Given the description of an element on the screen output the (x, y) to click on. 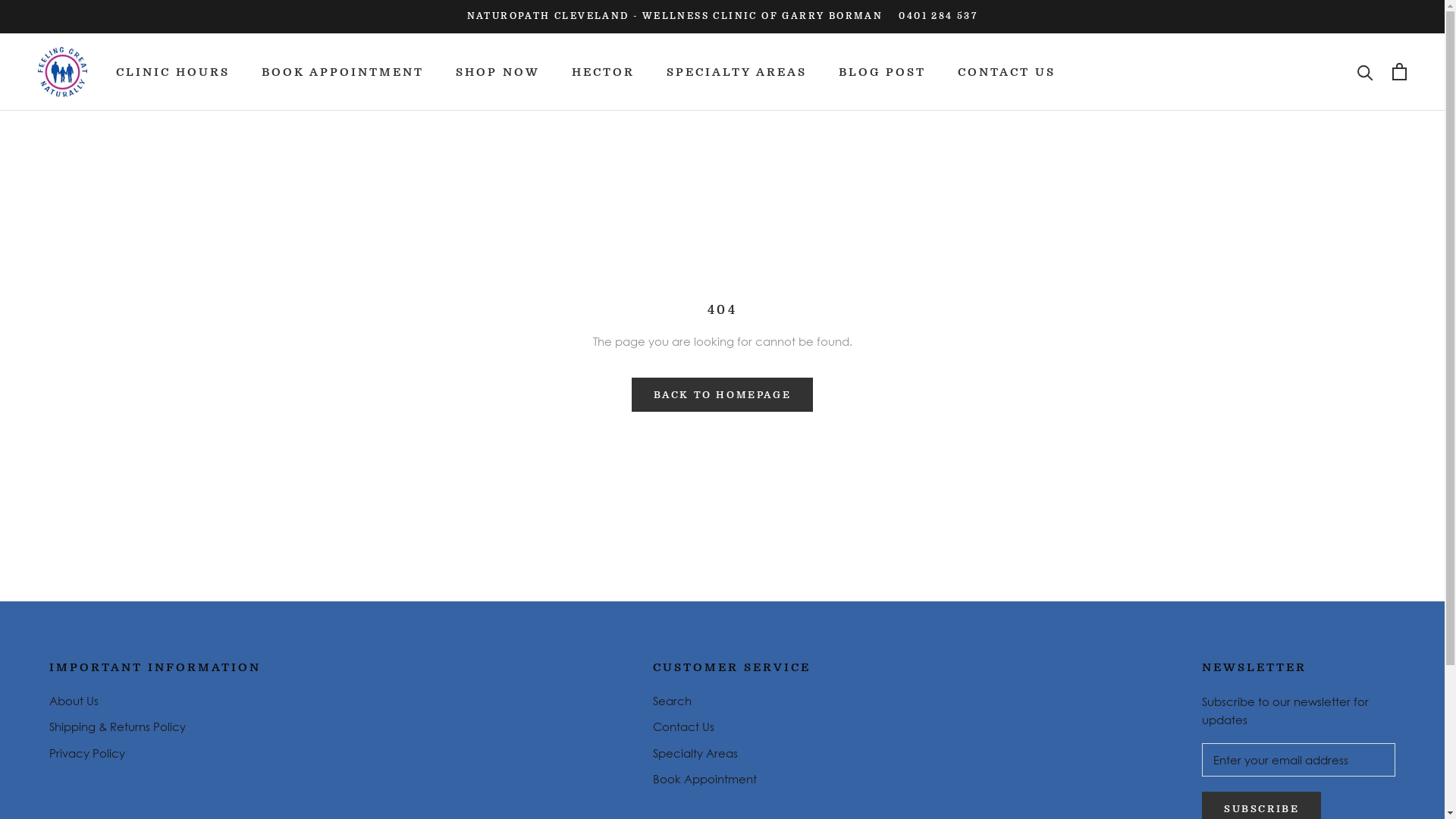
SHOP NOW
SHOP NOW Element type: text (497, 71)
Shipping & Returns Policy Element type: text (154, 726)
CLINIC HOURS
CLINIC HOURS Element type: text (172, 71)
CONTACT US
CONTACT US Element type: text (1006, 71)
Contact Us Element type: text (730, 726)
Privacy Policy Element type: text (154, 753)
Book Appointment Element type: text (730, 778)
BLOG POST
BLOG POST Element type: text (881, 71)
SPECIALTY AREAS
SPECIALTY AREAS Element type: text (736, 71)
About Us Element type: text (154, 700)
BACK TO HOMEPAGE Element type: text (722, 394)
HECTOR
HECTOR Element type: text (602, 71)
Specialty Areas Element type: text (730, 753)
Search Element type: text (730, 700)
BOOK APPOINTMENT Element type: text (342, 71)
